Given the description of an element on the screen output the (x, y) to click on. 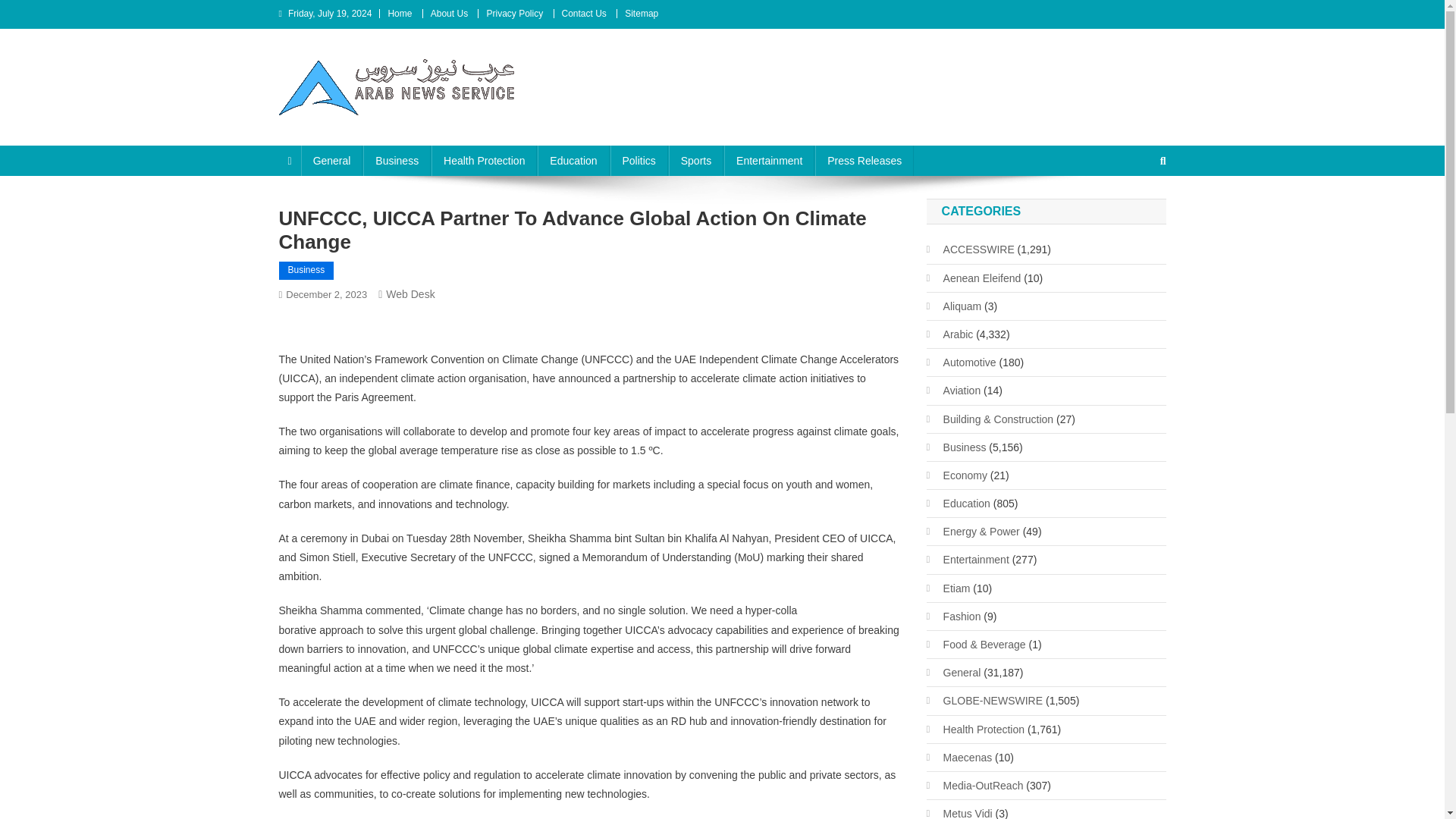
Home (399, 13)
Contact Us (582, 13)
Business (396, 160)
Sports (695, 160)
Arab News Service (388, 130)
Sitemap (641, 13)
Aliquam (953, 306)
Politics (638, 160)
Press Releases (864, 160)
Entertainment (768, 160)
ACCESSWIRE (970, 249)
Education (572, 160)
Aenean Eleifend (974, 278)
About Us (448, 13)
Web Desk (409, 294)
